Given the description of an element on the screen output the (x, y) to click on. 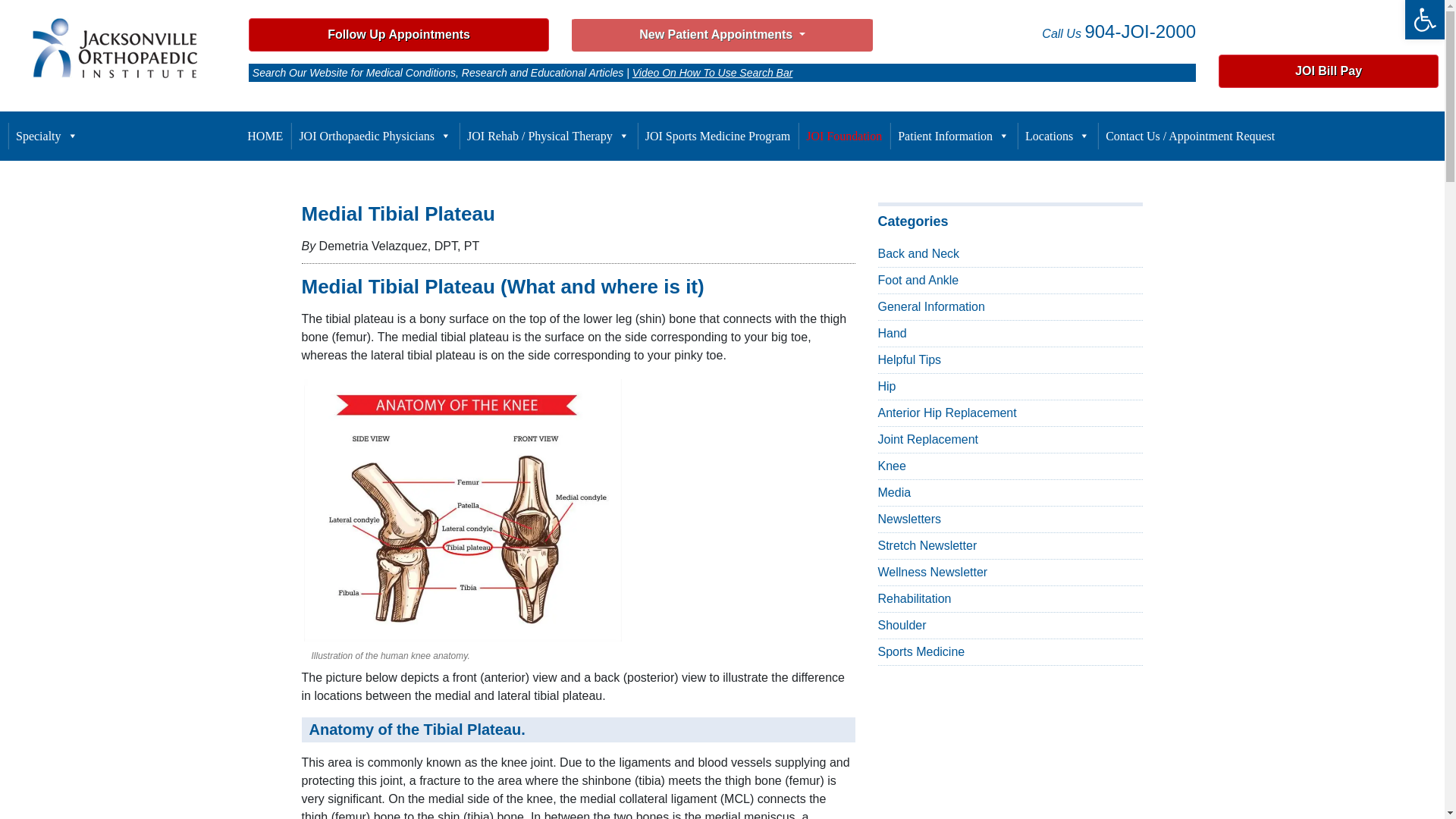
HOME (264, 135)
New Patient Appointments (722, 34)
Accessibility Tools (1424, 19)
JOI Orthopaedic Physicians (374, 135)
Video On How To Use Search Bar (712, 72)
Specialty (1424, 19)
Follow Up Appointments (46, 135)
Accessibility Tools (398, 33)
JOI Bill Pay (1424, 19)
